Given the description of an element on the screen output the (x, y) to click on. 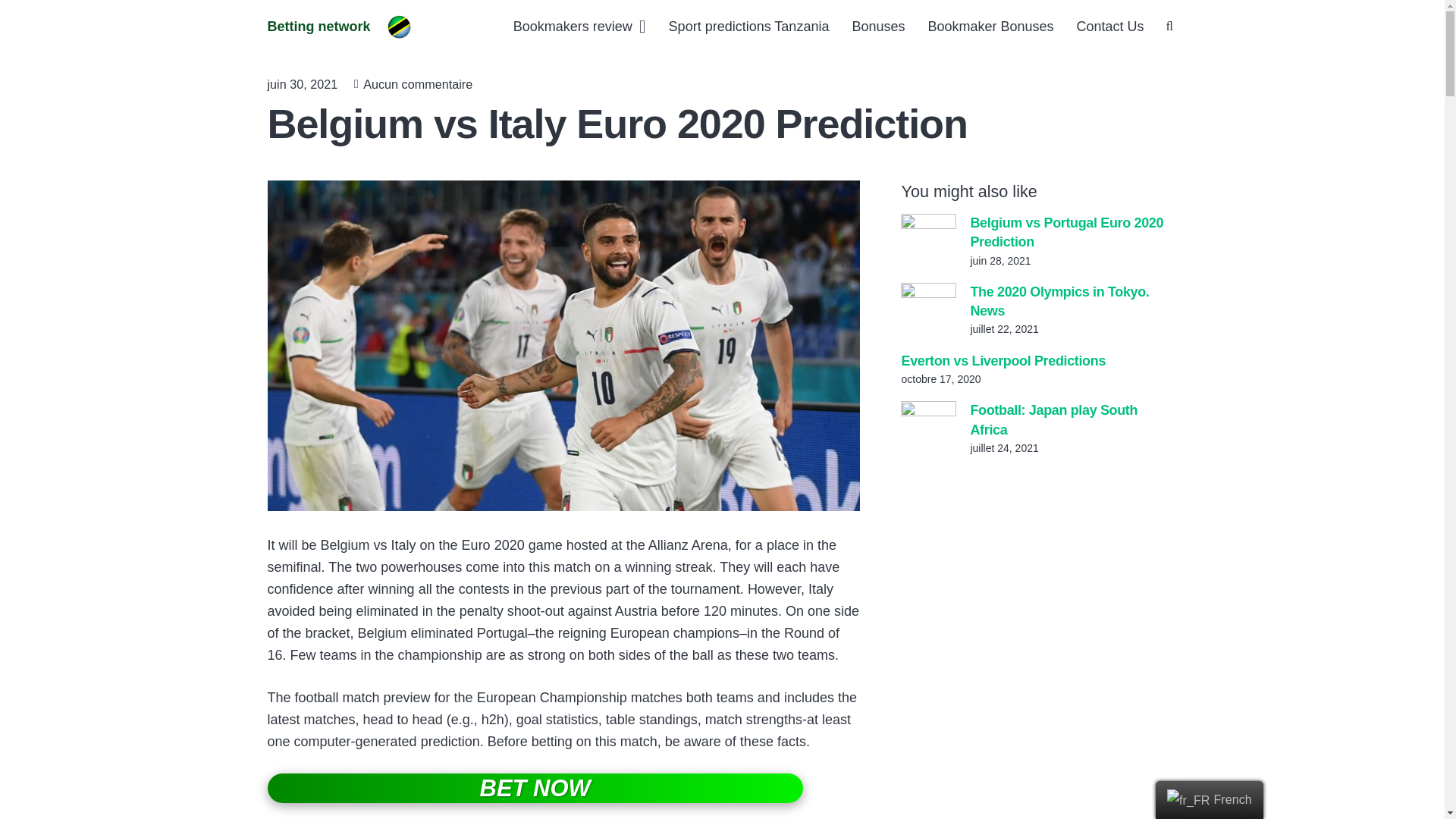
Aucun commentaire (416, 83)
Contact Us (1110, 26)
Bookmaker Bonuses (989, 26)
Everton vs Liverpool Predictions (1003, 360)
Sport predictions Tanzania (749, 26)
BET NOW (534, 788)
Bonuses (877, 26)
Betting network (317, 25)
Football: Japan play South Africa (1053, 419)
Belgium vs Portugal Euro 2020 Prediction (1066, 232)
